Given the description of an element on the screen output the (x, y) to click on. 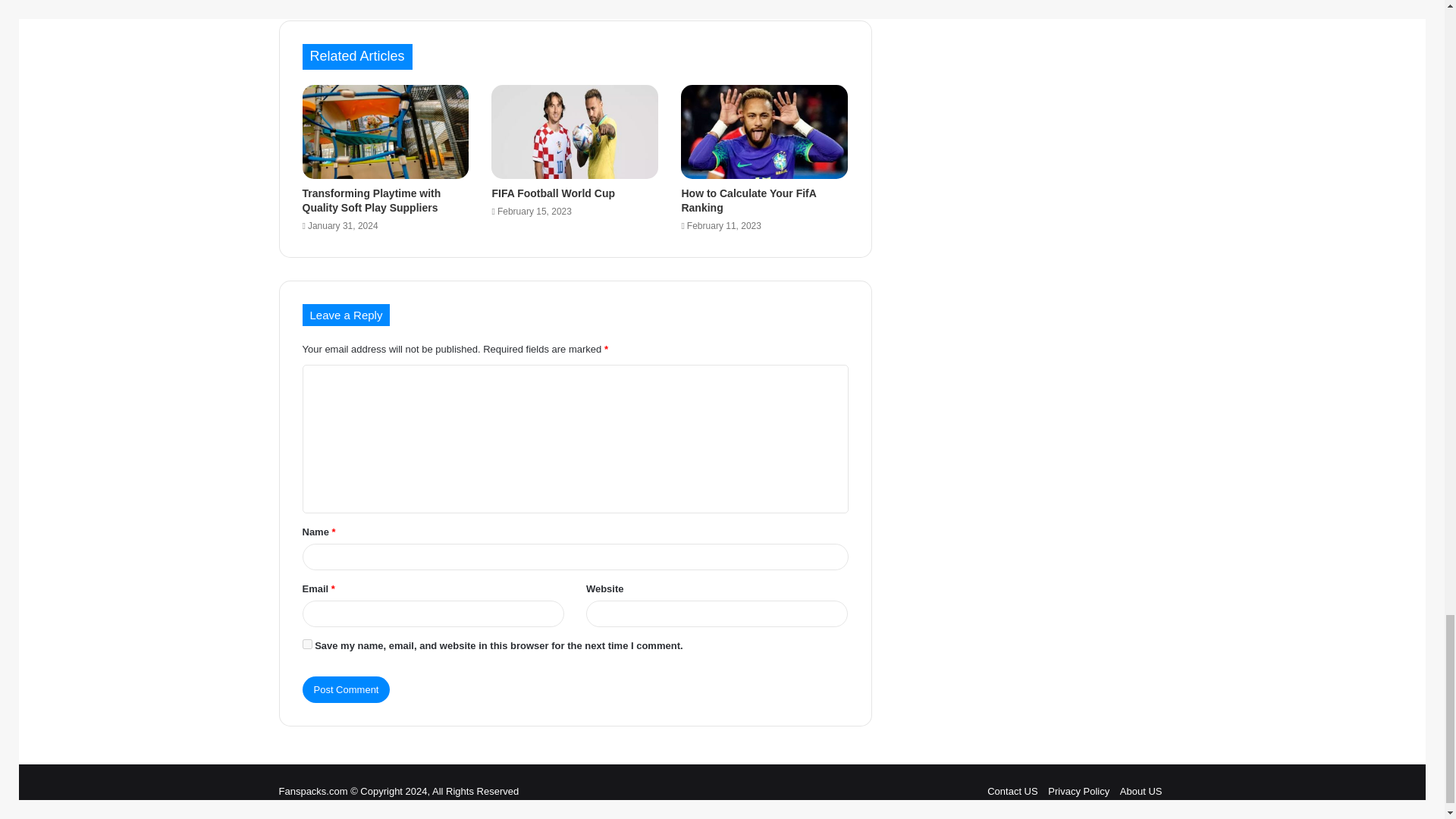
yes (306, 644)
Post Comment (345, 689)
